Given the description of an element on the screen output the (x, y) to click on. 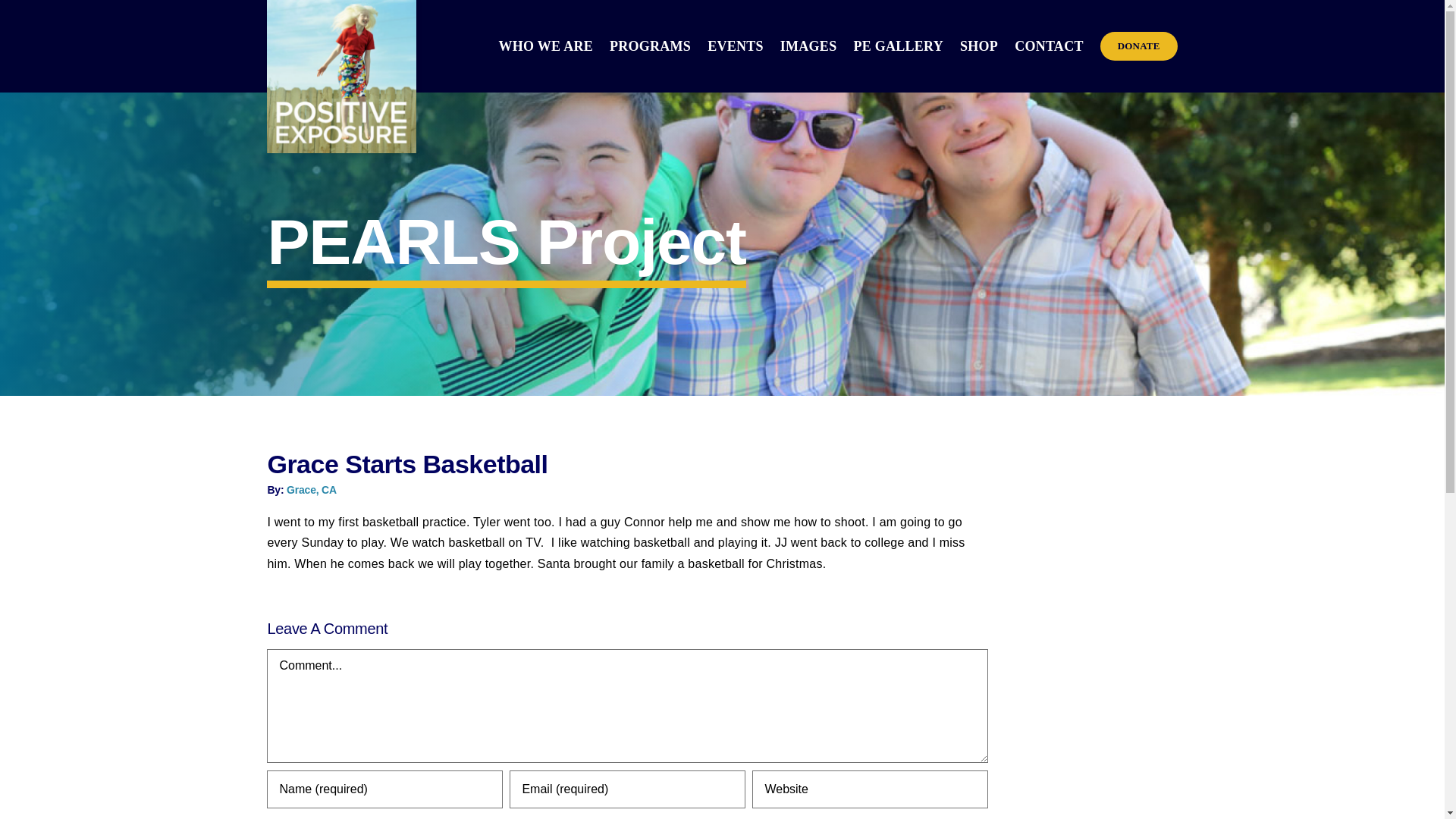
PE GALLERY (898, 46)
DONATE (1138, 46)
EVENTS (734, 46)
PROGRAMS (650, 46)
WHO WE ARE (545, 46)
CONTACT (1048, 46)
IMAGES (808, 46)
Grace, CA (311, 490)
Grace, CA (311, 490)
SHOP (978, 46)
